Given the description of an element on the screen output the (x, y) to click on. 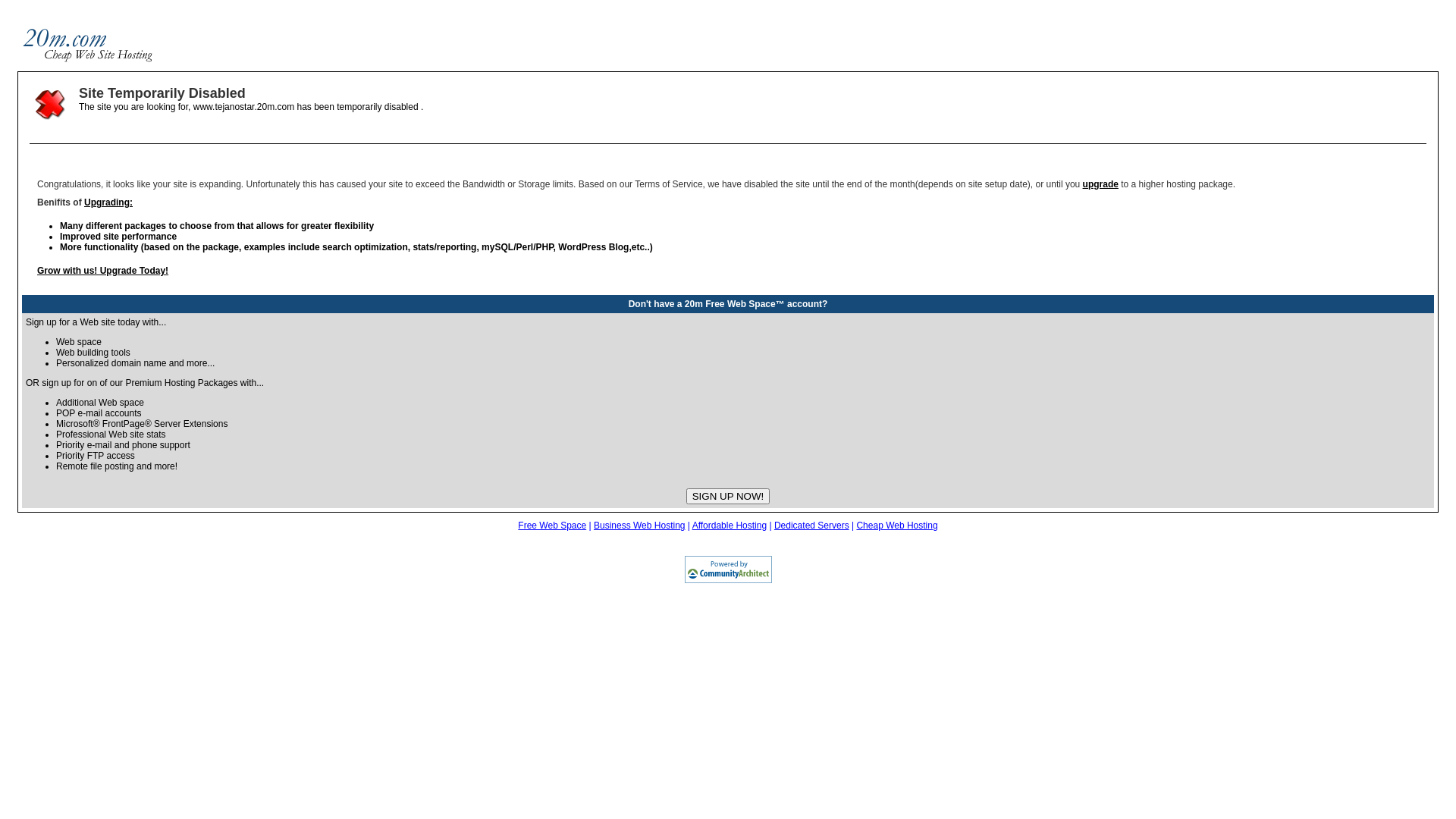
Affordable Hosting Element type: text (729, 525)
Free Web Space Element type: text (551, 525)
Upgrading: Element type: text (108, 202)
upgrade Element type: text (1100, 183)
SIGN UP NOW! Element type: text (728, 496)
Grow with us! Upgrade Today! Element type: text (102, 270)
Cheap Web Hosting Element type: text (896, 525)
Business Web Hosting Element type: text (639, 525)
Dedicated Servers Element type: text (811, 525)
